Given the description of an element on the screen output the (x, y) to click on. 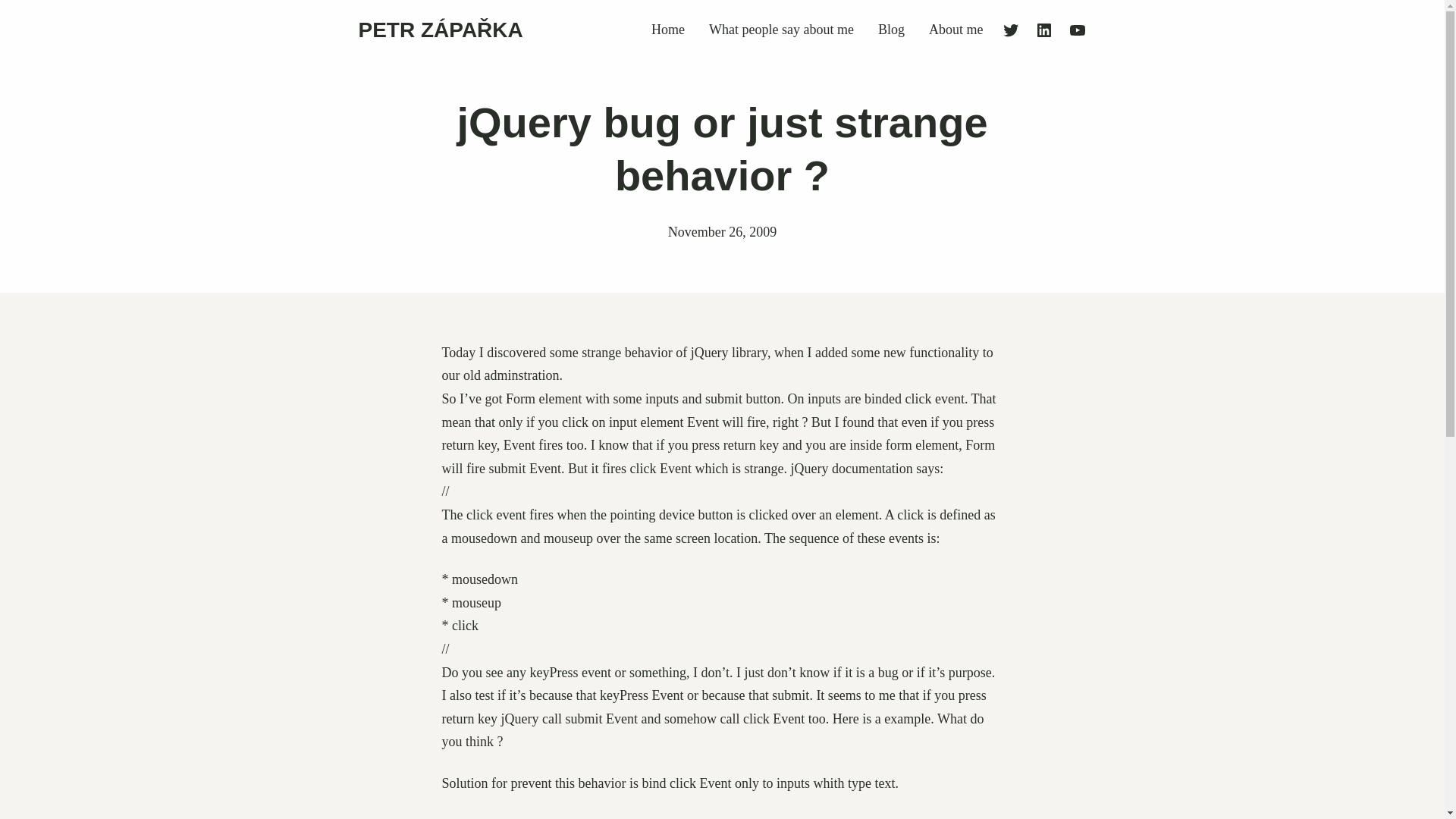
What people say about me (781, 29)
Home (667, 29)
Here is a example. (883, 718)
PETR ZAPARKA Twitter (1010, 30)
LinkedIn (1042, 30)
About me (956, 29)
Blog (890, 29)
YouTube (1076, 30)
